Given the description of an element on the screen output the (x, y) to click on. 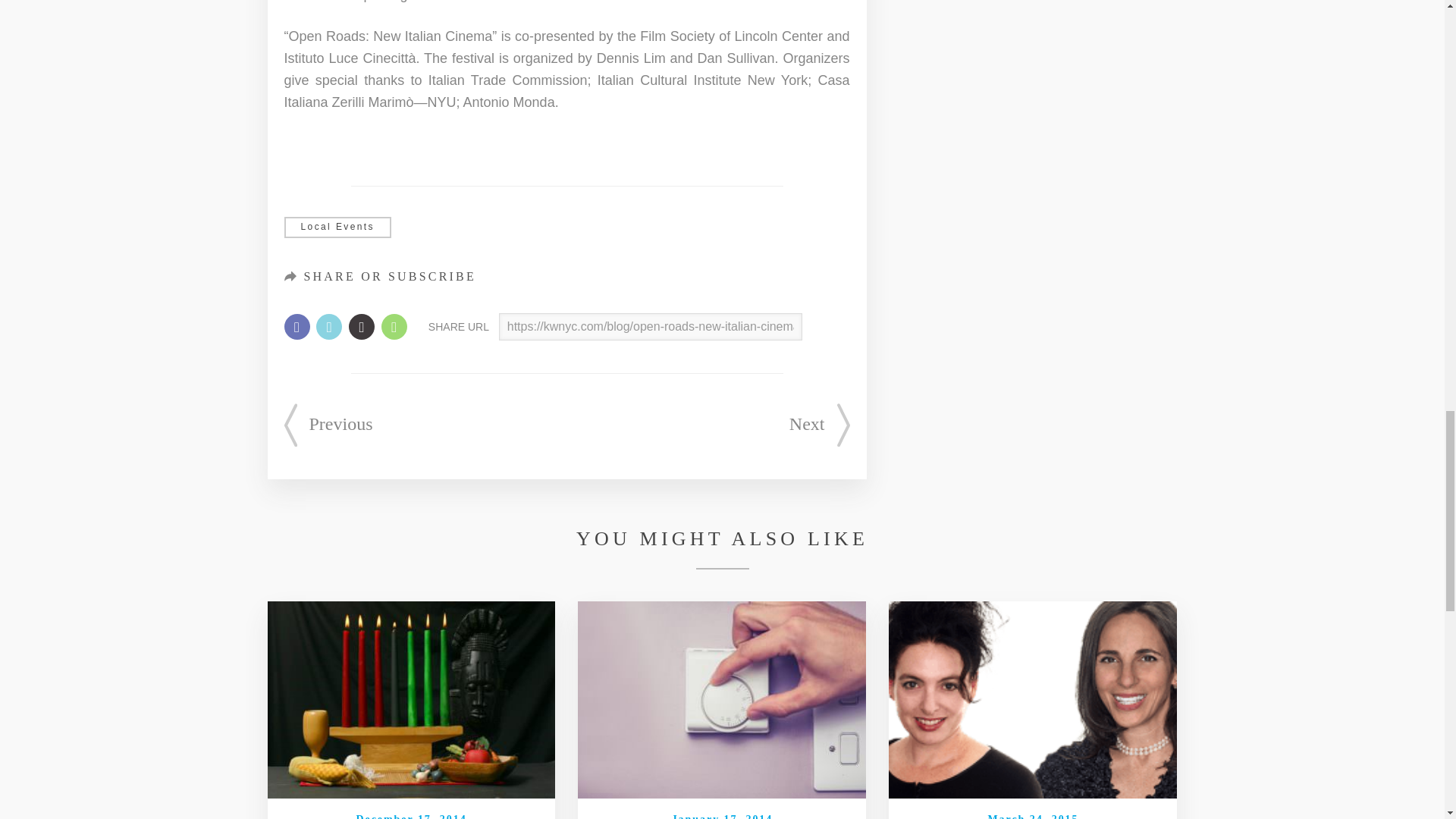
Next (819, 425)
Previous (327, 425)
Local Events (337, 227)
